Given the description of an element on the screen output the (x, y) to click on. 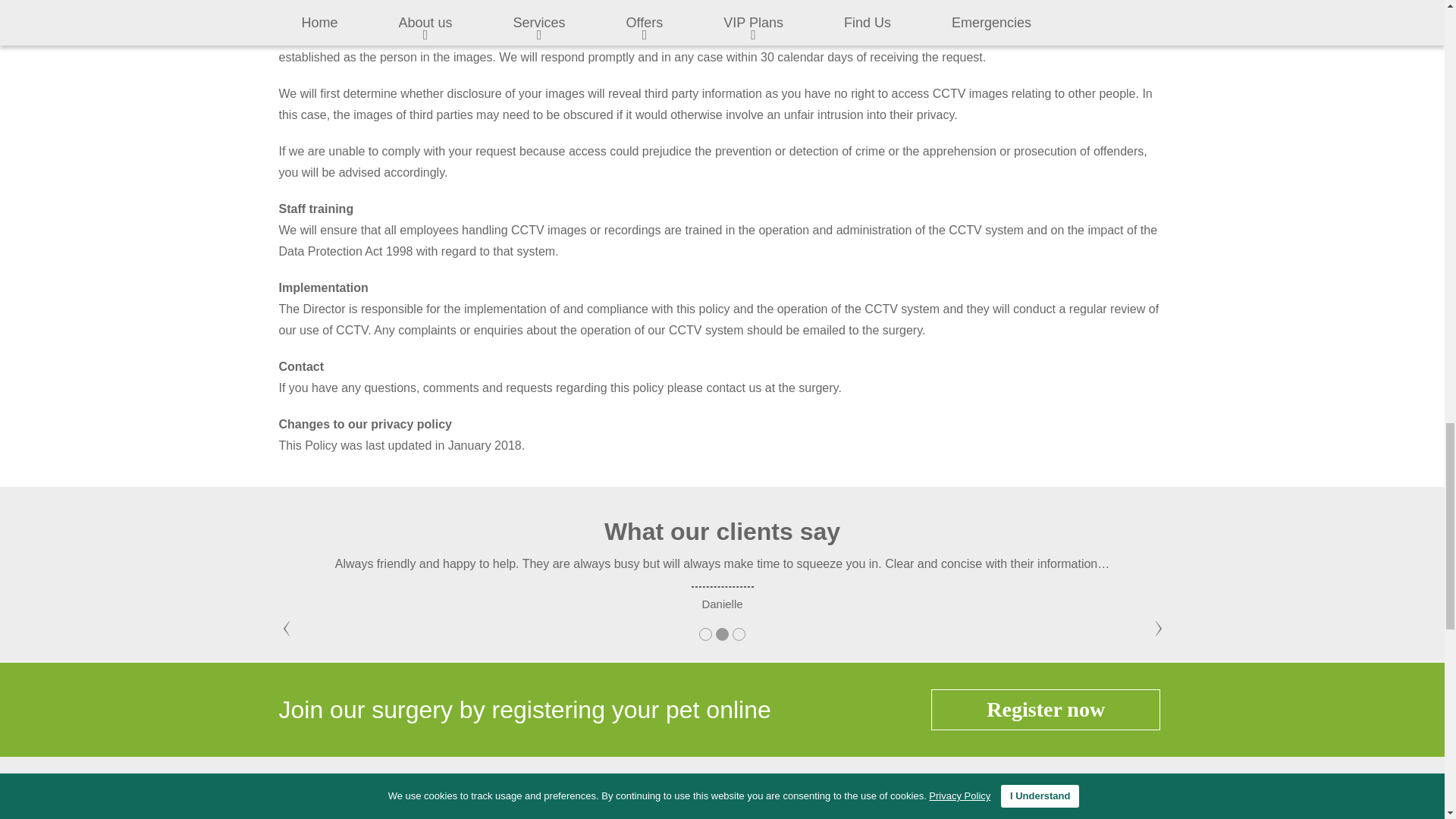
Register now (1045, 709)
